Given the description of an element on the screen output the (x, y) to click on. 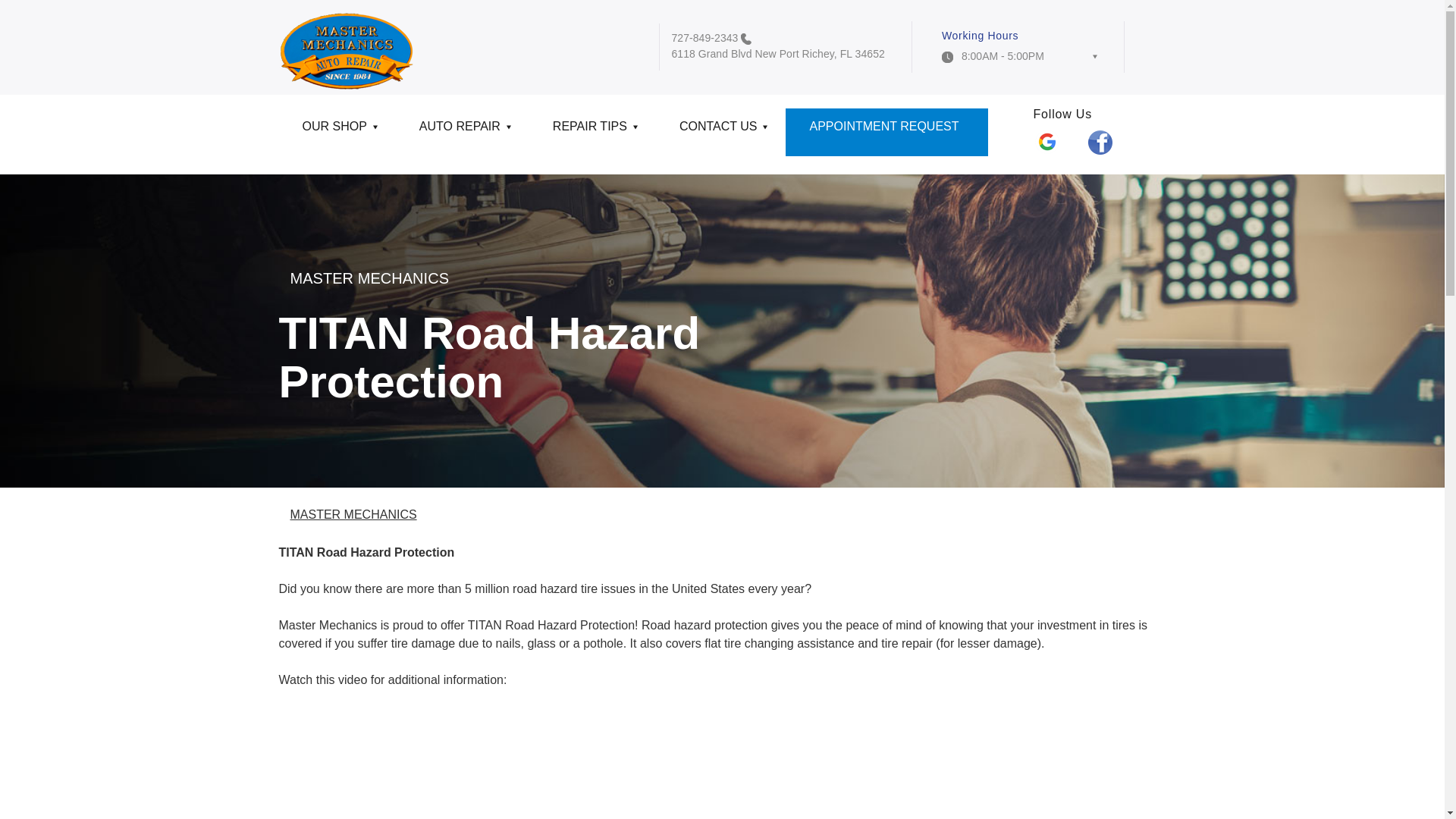
8:00AM - 5:00PM (1019, 60)
CONTACT US (721, 132)
APPOINTMENT REQUEST (886, 132)
REPAIR TIPS (592, 132)
727-849-2343 (704, 37)
OUR SHOP (337, 132)
YouTube video player (491, 763)
AUTO REPAIR (462, 132)
